Given the description of an element on the screen output the (x, y) to click on. 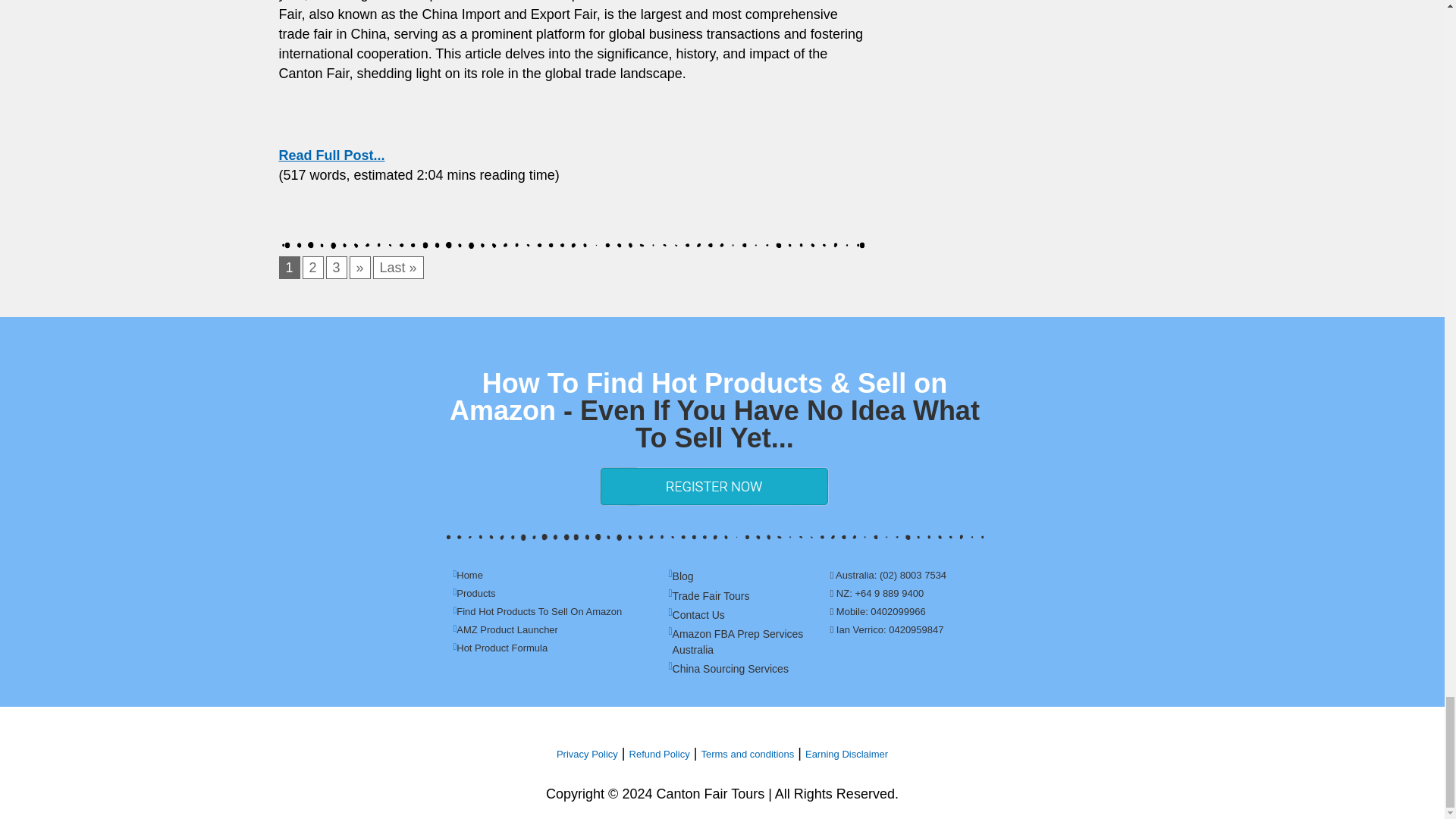
Register Now (713, 486)
